Given the description of an element on the screen output the (x, y) to click on. 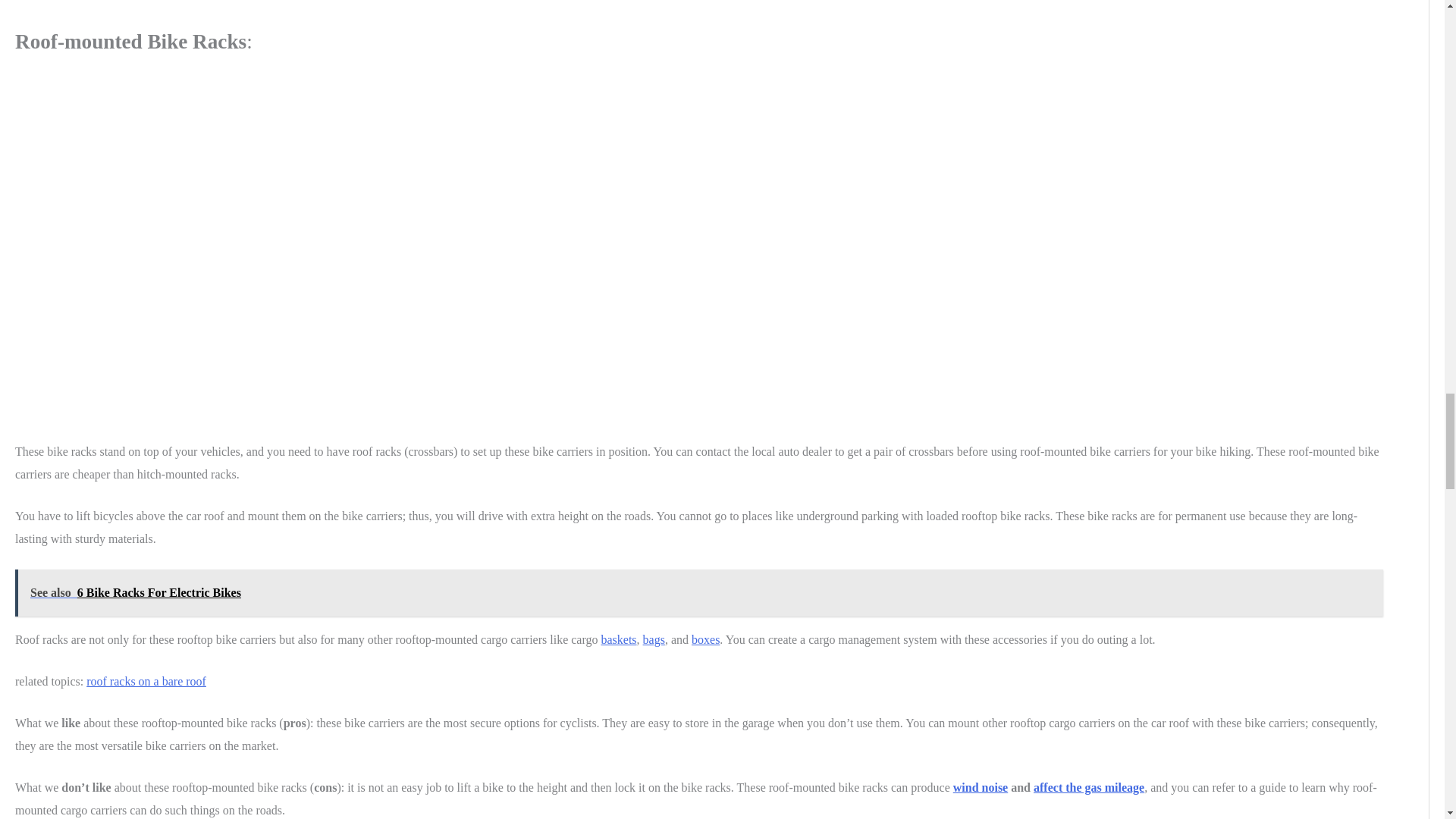
roof racks on a bare roof (145, 680)
affect the gas mileage (1088, 787)
boxes (705, 639)
baskets (617, 639)
See also  6 Bike Racks For Electric Bikes (698, 592)
bags (654, 639)
wind noise (980, 787)
